Given the description of an element on the screen output the (x, y) to click on. 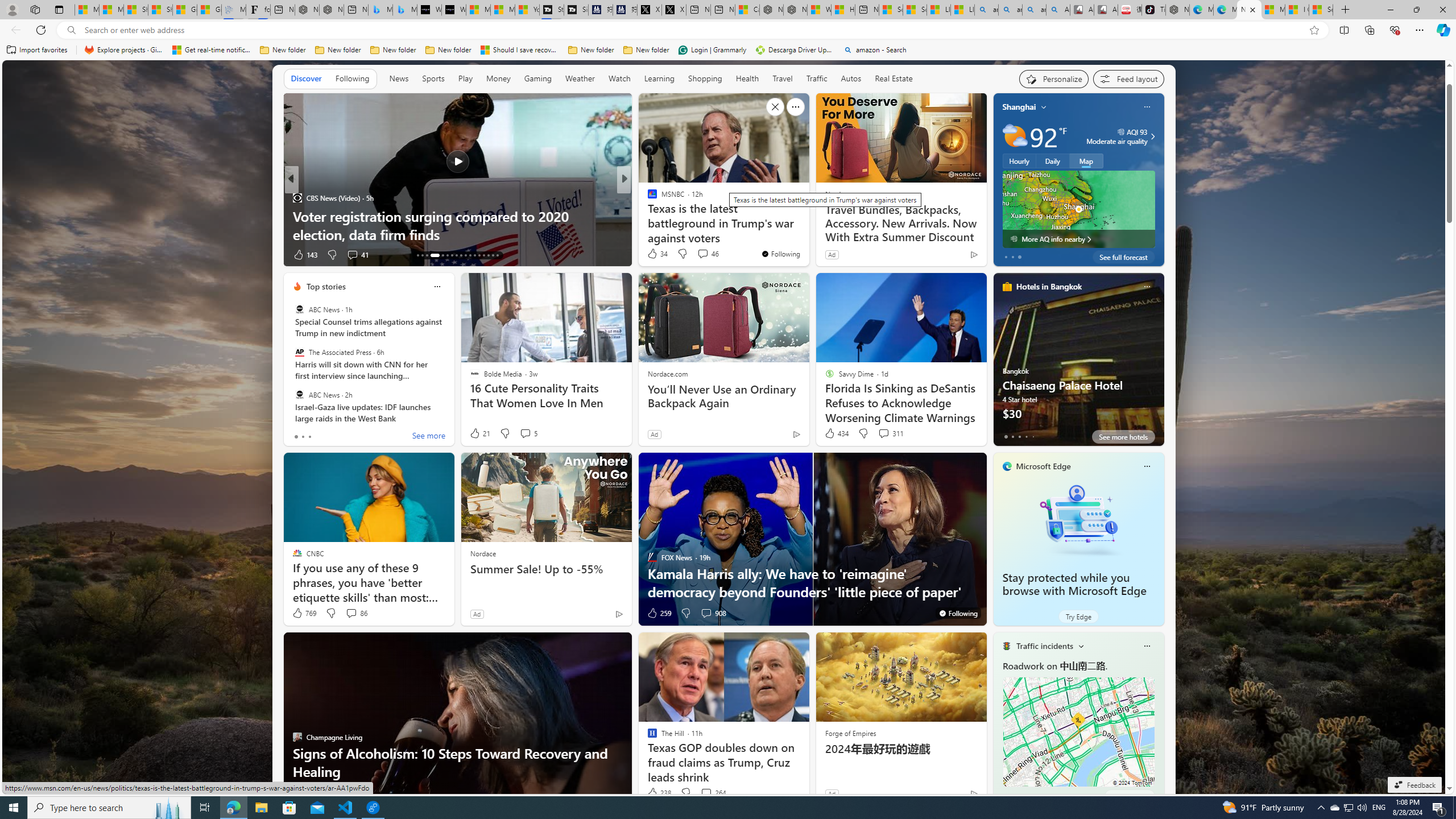
Hide this story (774, 106)
Gaming (537, 78)
My location (1043, 106)
View comments 15 Comment (698, 254)
Sports (432, 78)
Shanghai (1018, 106)
Travel (782, 78)
Traffic (816, 78)
Shopping (705, 79)
Health (746, 79)
New folder (646, 49)
Weather (580, 79)
